Given the description of an element on the screen output the (x, y) to click on. 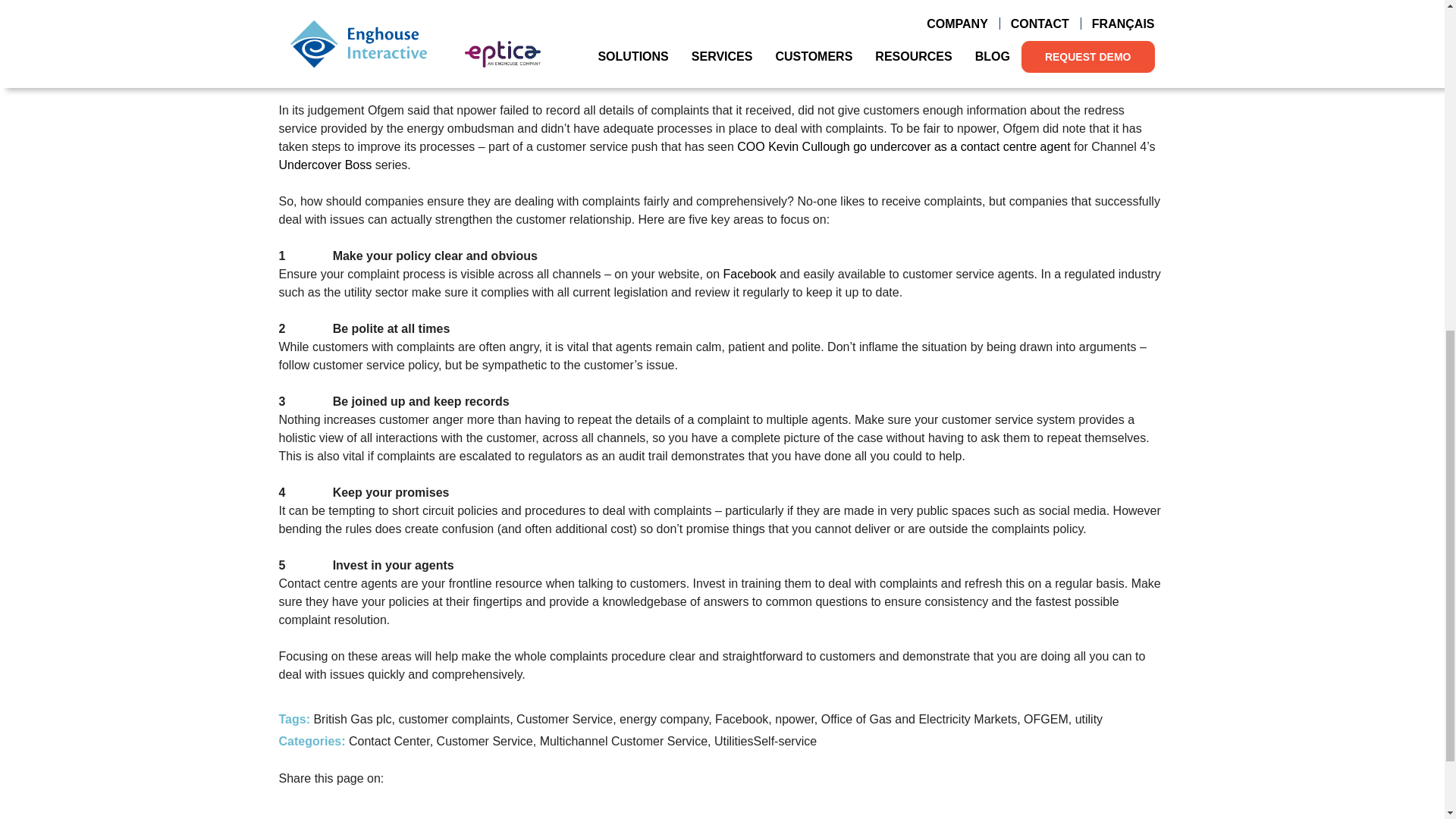
Office of Gas and Electricity Markets (901, 55)
British Gas plc (1112, 55)
Facebook (749, 273)
Undercover Boss (325, 164)
